Given the description of an element on the screen output the (x, y) to click on. 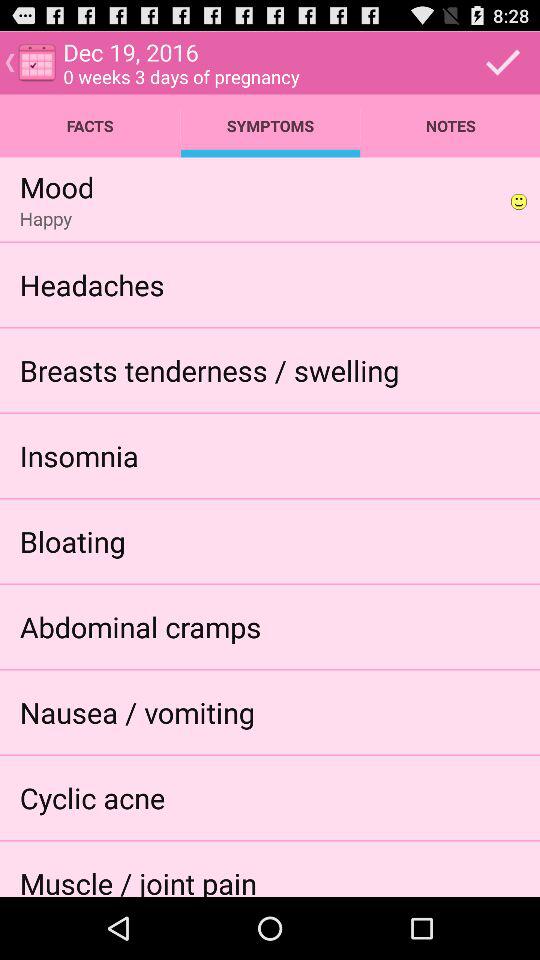
launch happy app (45, 218)
